Given the description of an element on the screen output the (x, y) to click on. 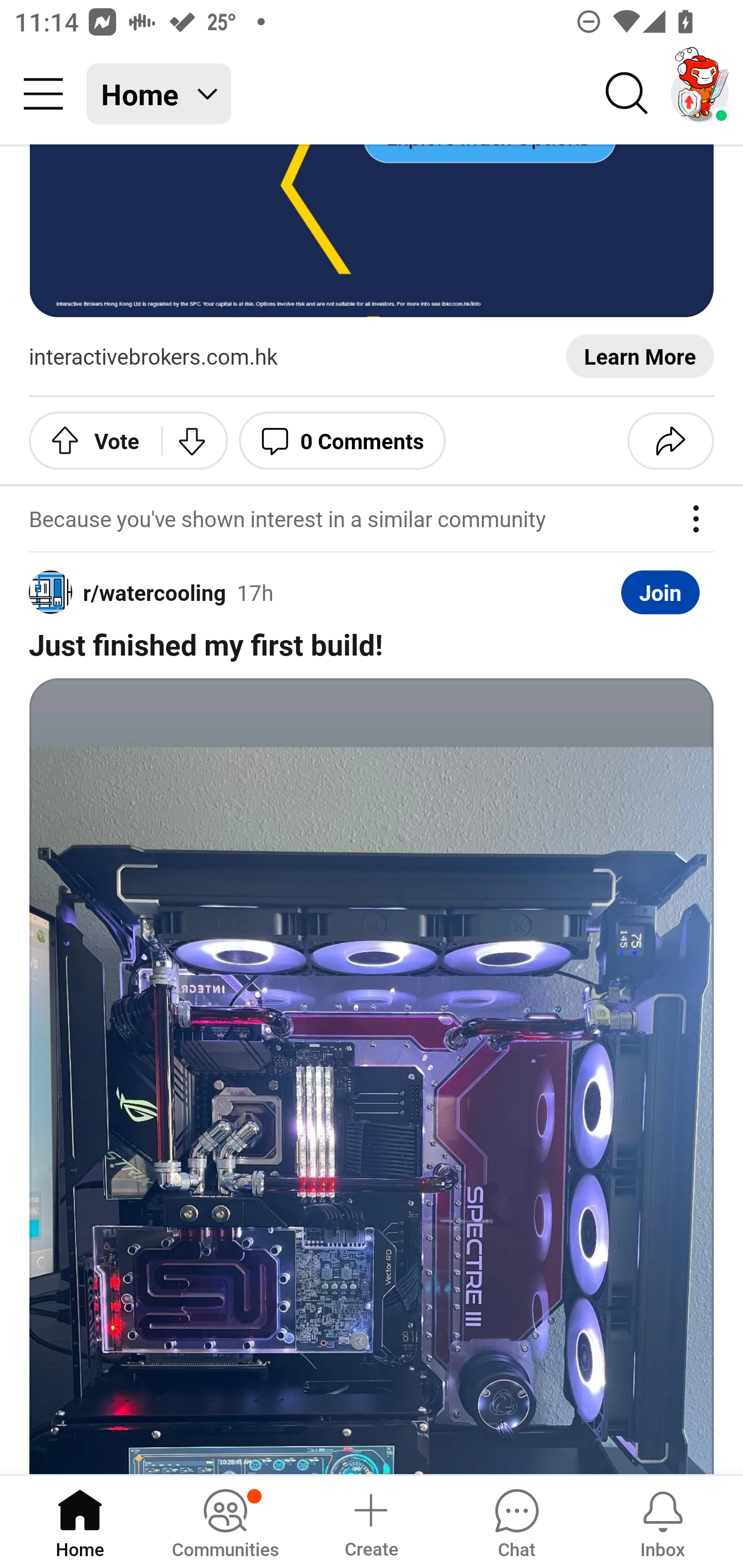
Community menu (43, 93)
Home Home feed (158, 93)
Search (626, 93)
TestAppium002 account (699, 93)
1 of 2, Image, In Image gallery (371, 1075)
Home (80, 1520)
Communities, has notifications Communities (225, 1520)
Create a post Create (370, 1520)
Chat (516, 1520)
Inbox (662, 1520)
